Given the description of an element on the screen output the (x, y) to click on. 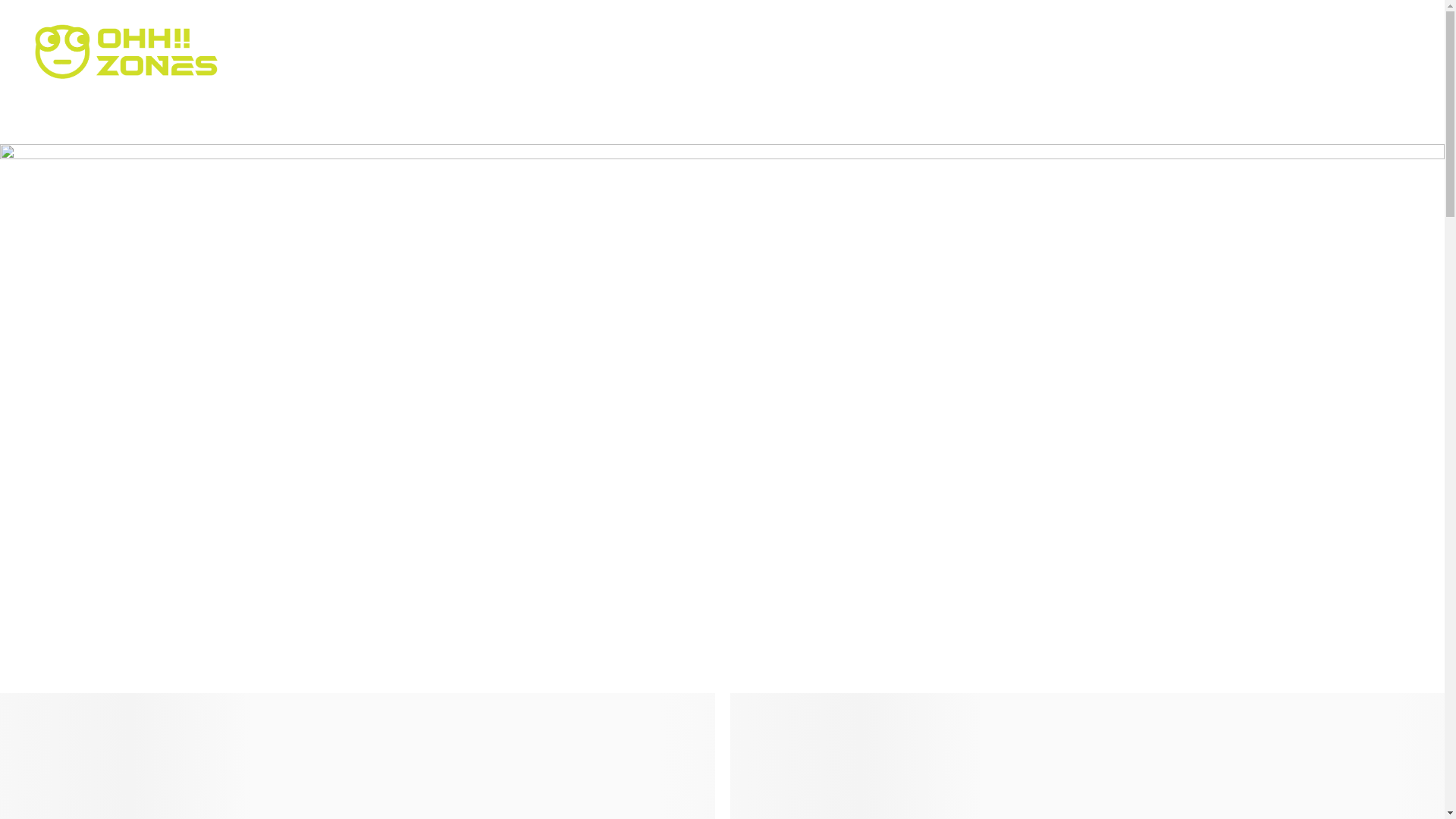
PORTFOLIO (1003, 53)
SERVICES (884, 53)
CONTACT US (1216, 53)
ABOUT US (770, 53)
